Given the description of an element on the screen output the (x, y) to click on. 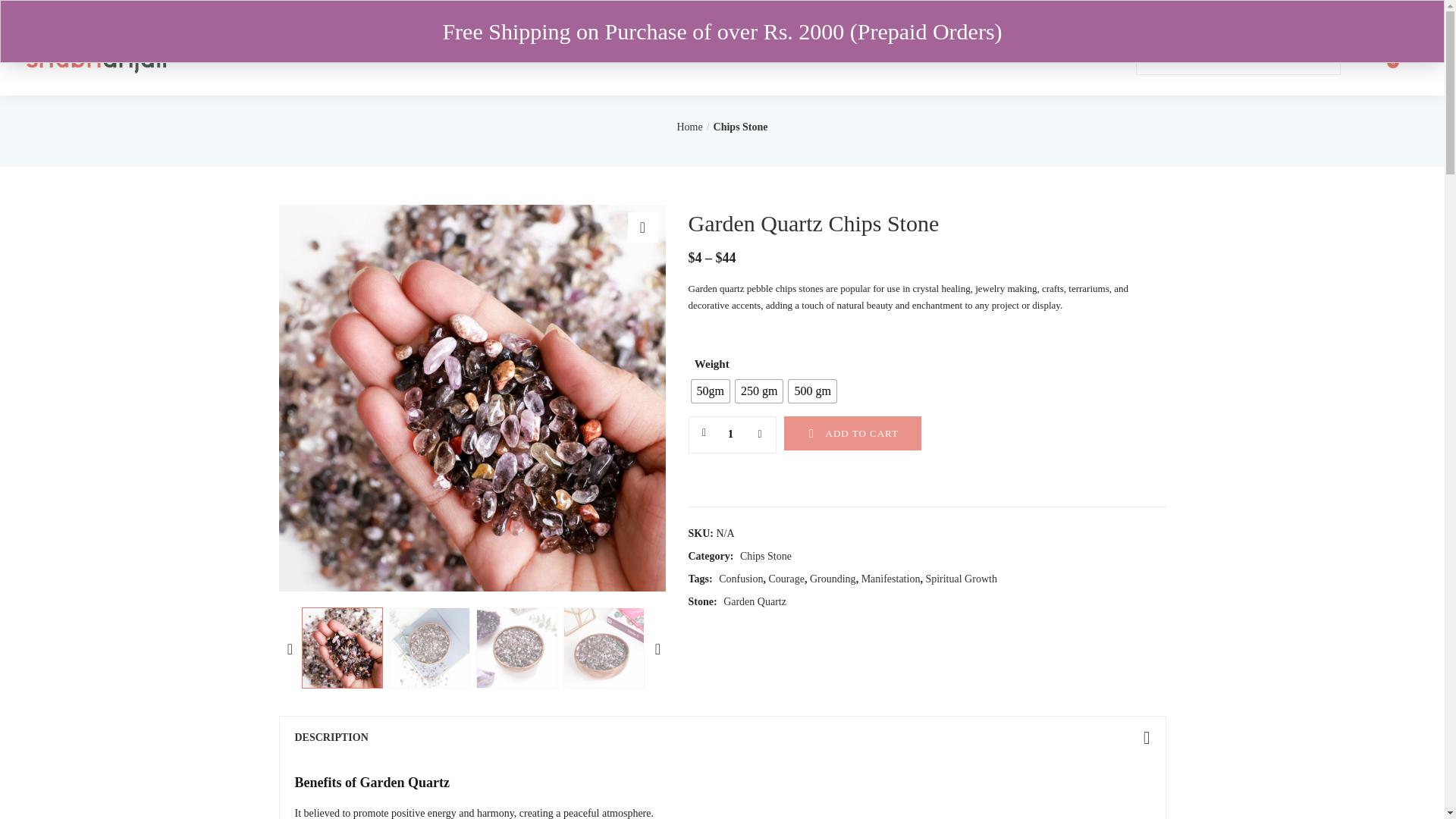
500 gm (812, 391)
50gm (710, 391)
View your shopping cart (1402, 58)
250 gm (759, 391)
